Given the description of an element on the screen output the (x, y) to click on. 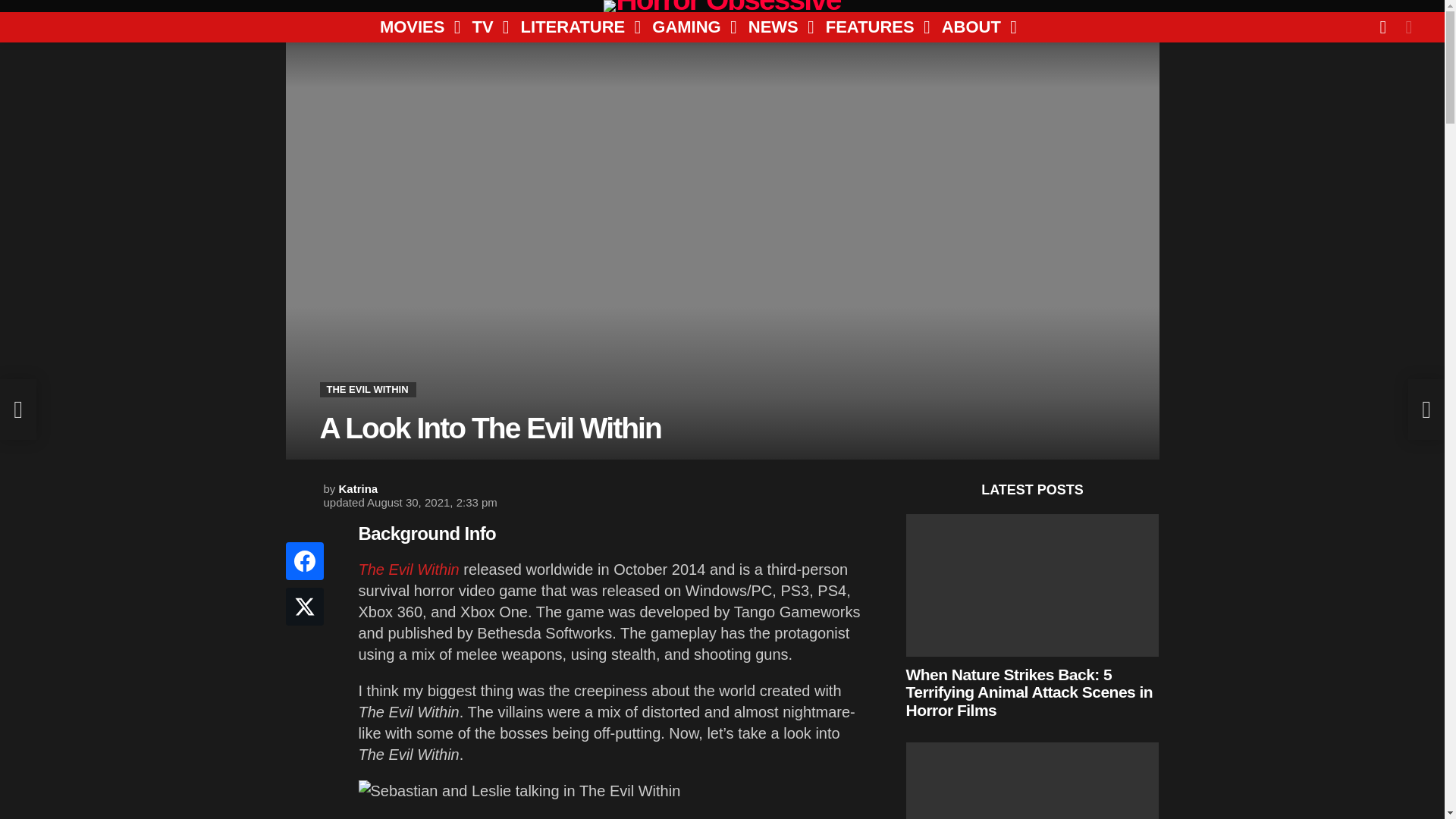
TV (484, 26)
MOVIES (414, 26)
Lovecraftian Horror Perfected: The Subtle Genius of The Void (1031, 780)
Share on Twitter (304, 606)
Share on Facebook (304, 560)
Posts by Katrina (358, 488)
